Given the description of an element on the screen output the (x, y) to click on. 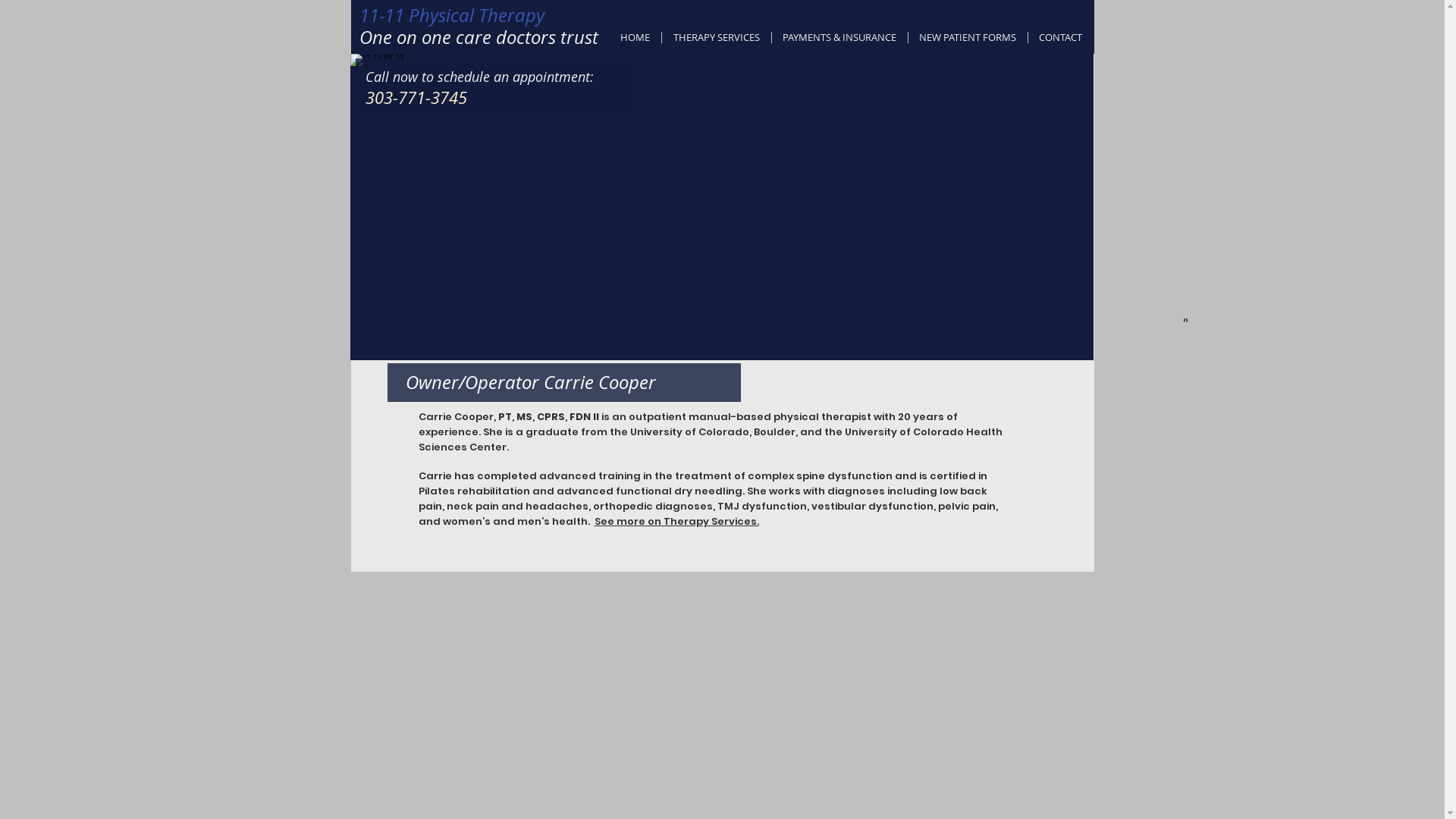
CONTACT Element type: text (1060, 37)
HOME Element type: text (634, 37)
NEW PATIENT FORMS Element type: text (967, 37)
THERAPY SERVICES Element type: text (715, 37)
See more on Therapy Services. Element type: text (676, 521)
75530F78-331E-430C-9AFE-0032105B3C9F.jpe Element type: hover (1184, 320)
PAYMENTS & INSURANCE Element type: text (839, 37)
